Given the description of an element on the screen output the (x, y) to click on. 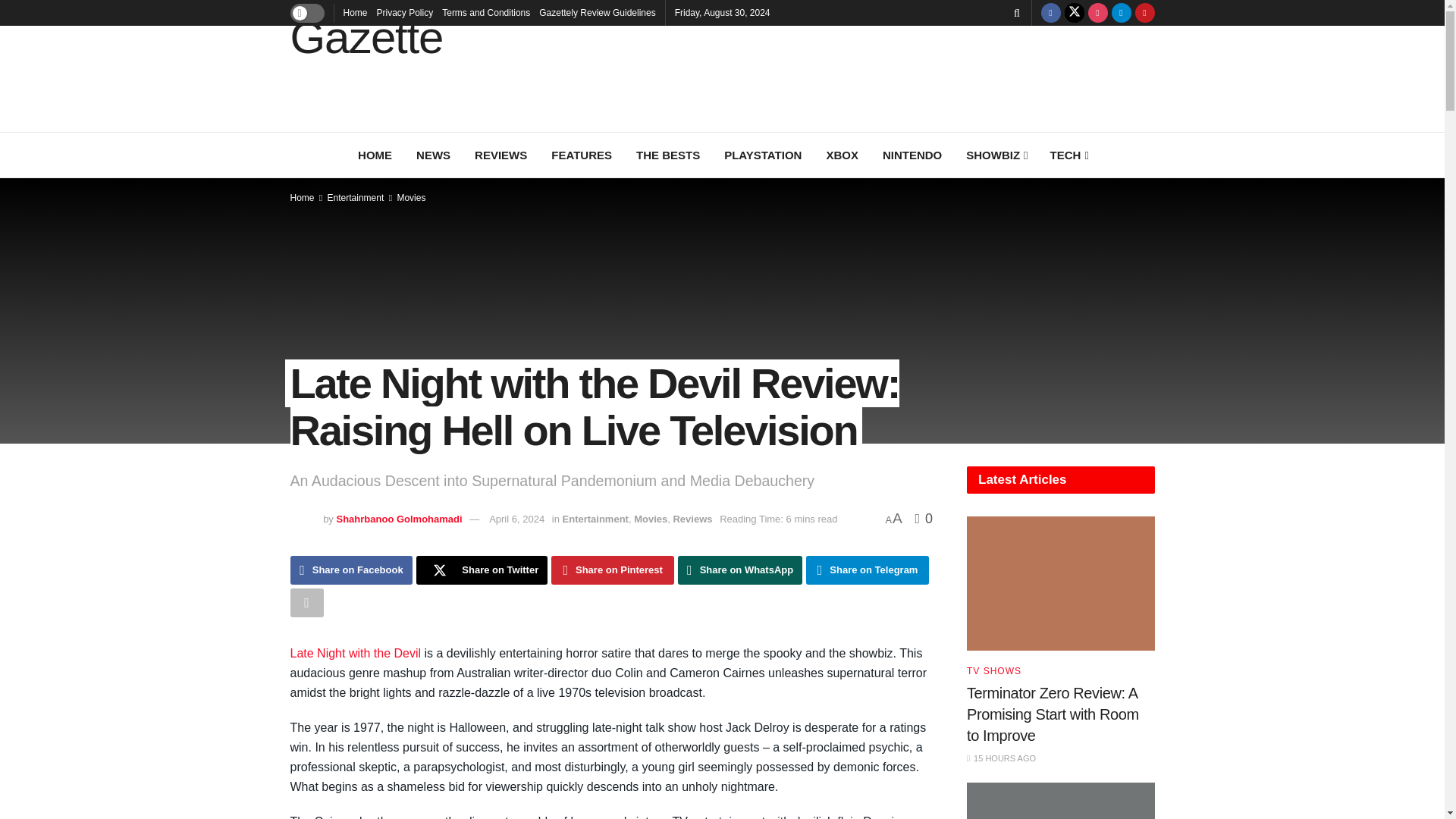
PLAYSTATION (762, 154)
Gazettely Review Guidelines (596, 12)
THE BESTS (667, 154)
Home (354, 12)
Terms and Conditions (485, 12)
Privacy Policy (405, 12)
FEATURES (581, 154)
SHOWBIZ (994, 154)
XBOX (841, 154)
NEWS (433, 154)
